Given the description of an element on the screen output the (x, y) to click on. 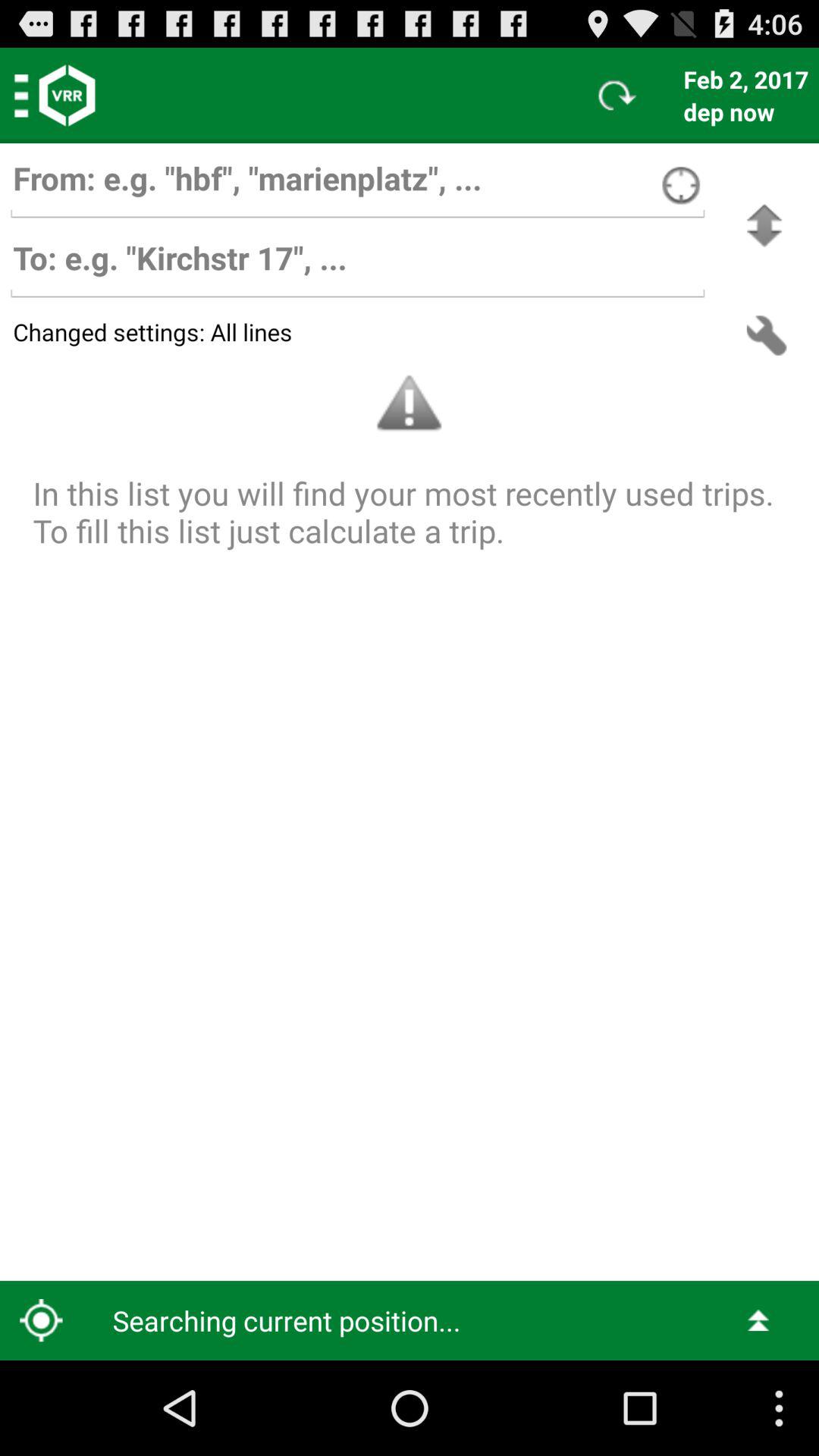
choose the item below dep now item (764, 225)
